Given the description of an element on the screen output the (x, y) to click on. 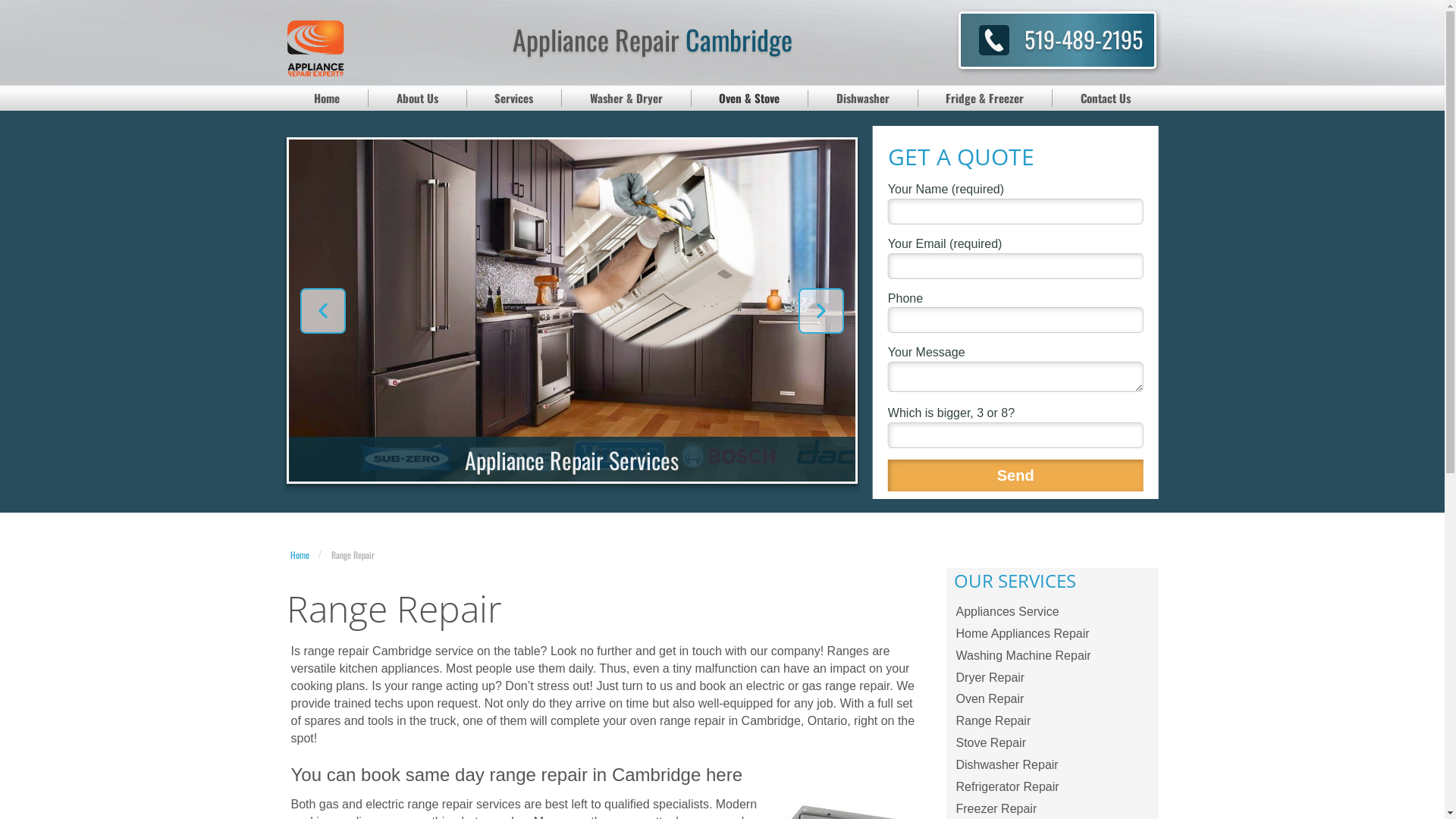
Oven & Stove Element type: text (750, 97)
Washer & Dryer Element type: text (626, 97)
Dishwasher Repair Element type: text (1052, 765)
Range Repair Element type: text (1052, 721)
Refrigerator Repair Element type: text (1052, 787)
Appliances Service Element type: text (1052, 612)
Stove Repair Element type: text (1052, 743)
About Us Element type: text (417, 97)
Oven Repair Element type: text (1052, 699)
Send Element type: text (1015, 475)
Contact Us Element type: text (1105, 97)
Washing Machine Repair Element type: text (1052, 656)
Dishwasher Element type: text (863, 97)
519-489-2195 Element type: text (1083, 38)
Home Element type: text (298, 554)
Dryer Repair Element type: text (1052, 678)
Services Element type: text (514, 97)
Fridge & Freezer Element type: text (984, 97)
Home Element type: text (327, 97)
Home Appliances Repair Element type: text (1052, 634)
